Given the description of an element on the screen output the (x, y) to click on. 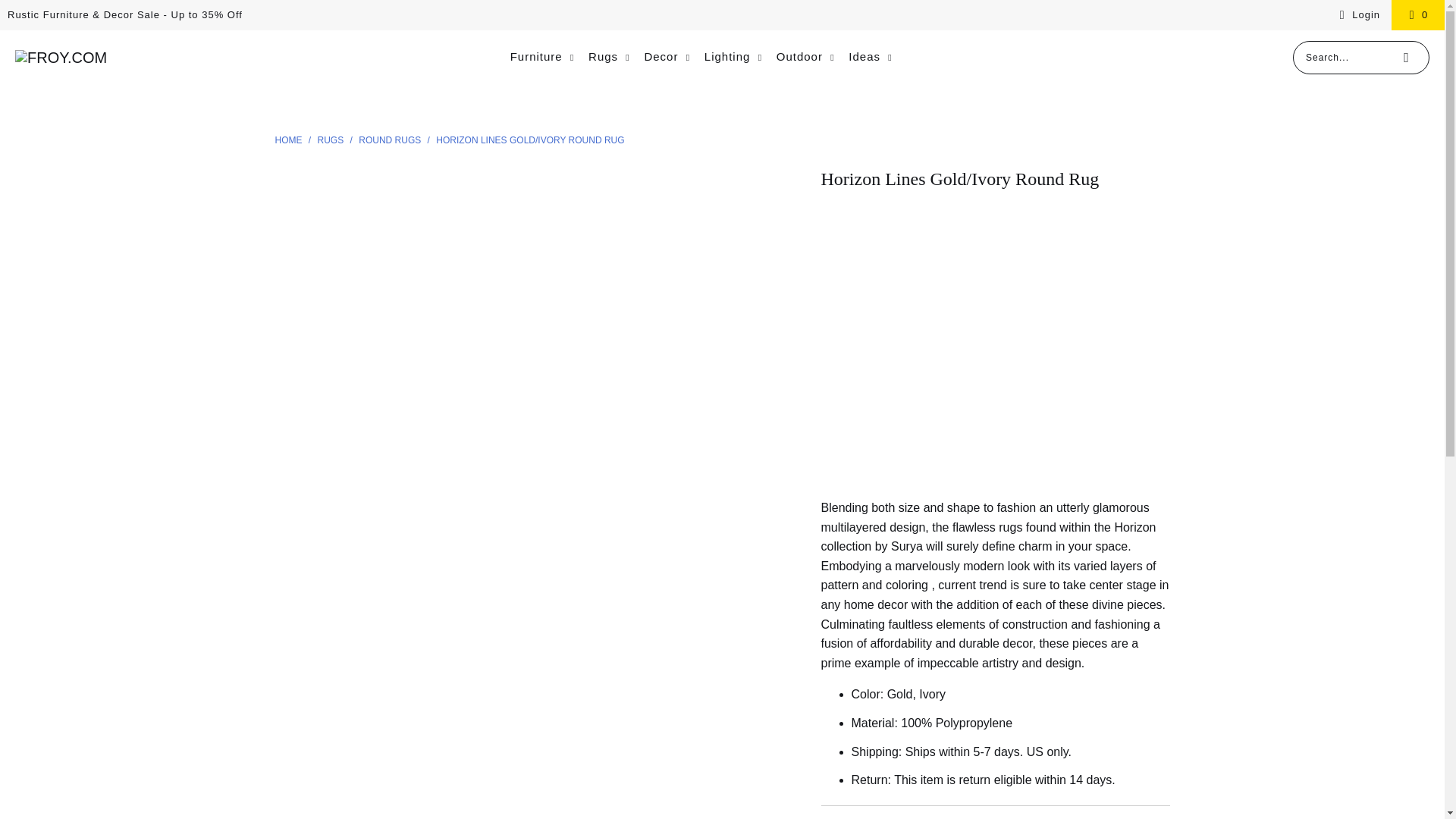
Round Rugs (390, 140)
Froy.com (289, 140)
Froy.com (60, 57)
My Account  (1357, 14)
Rugs (331, 140)
